Given the description of an element on the screen output the (x, y) to click on. 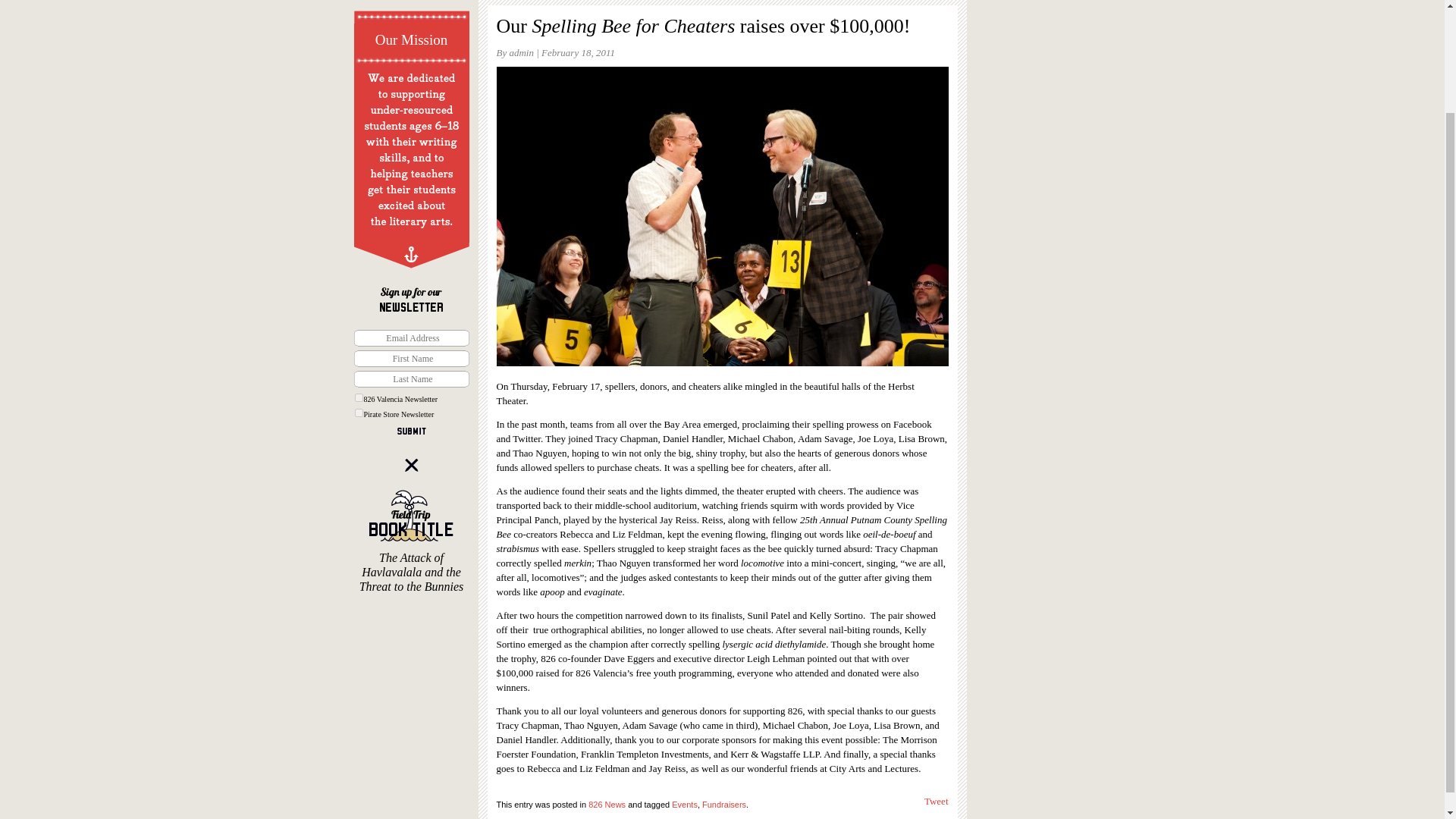
826 News (607, 804)
Events (684, 804)
Fundraisers (723, 804)
2 (357, 412)
826 Valencia (410, 11)
826 Valencia (410, 11)
submit (411, 430)
The Attack of Havlavalala and the Threat to the Bunnies (410, 541)
submit (411, 430)
Tweet (936, 800)
1 (357, 397)
